Given the description of an element on the screen output the (x, y) to click on. 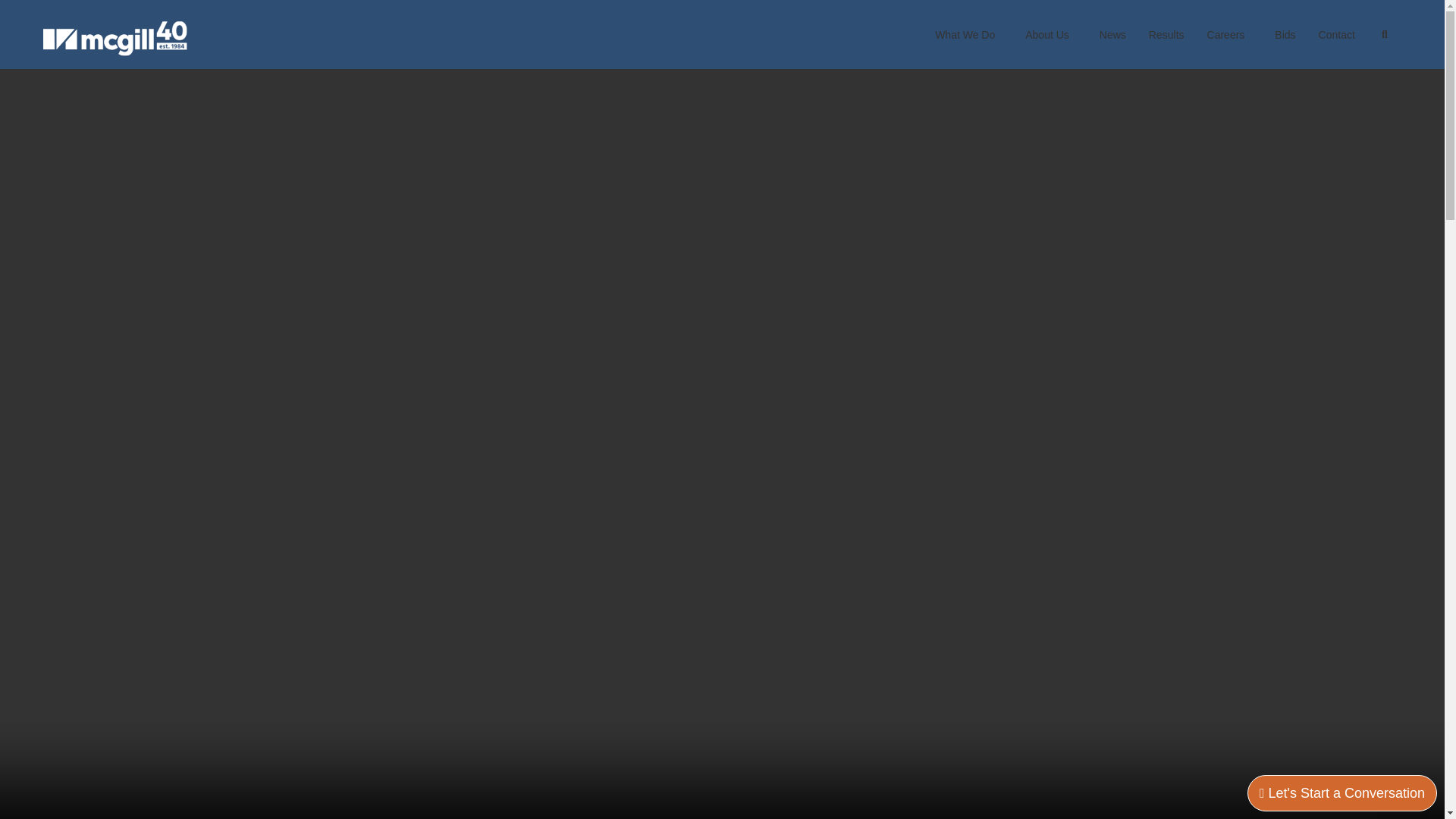
Careers (1229, 34)
About Us (1050, 34)
Contact (1337, 34)
Results (1166, 34)
What We Do (968, 34)
McGill Associates (114, 37)
